Given the description of an element on the screen output the (x, y) to click on. 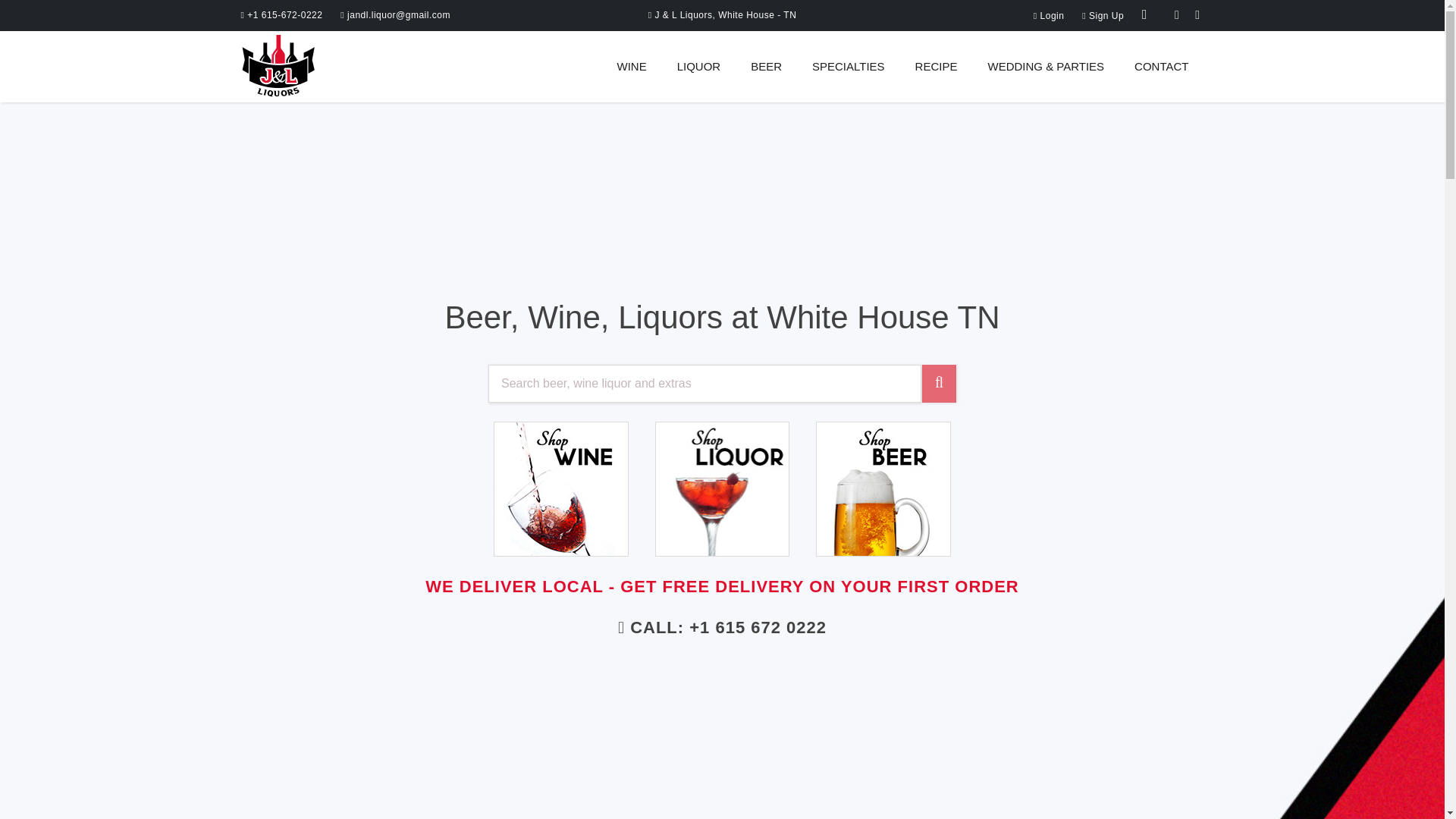
Login (1048, 15)
WINE (630, 66)
CONTACT (1161, 66)
BEER (766, 66)
Sign Up (1103, 15)
RECIPE (936, 66)
LIQUOR (698, 66)
SPECIALTIES (848, 66)
